Given the description of an element on the screen output the (x, y) to click on. 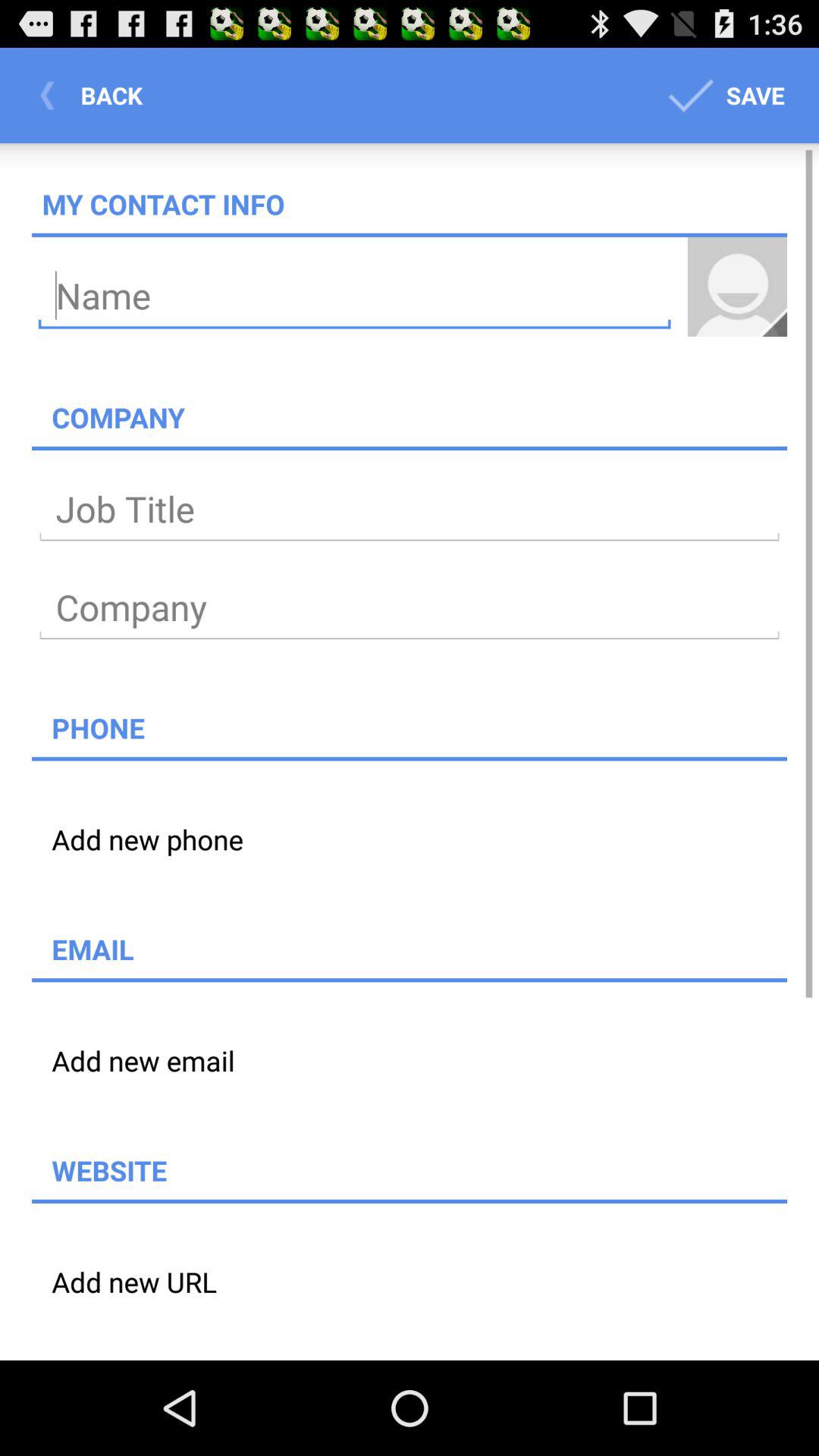
enter company name (409, 607)
